Given the description of an element on the screen output the (x, y) to click on. 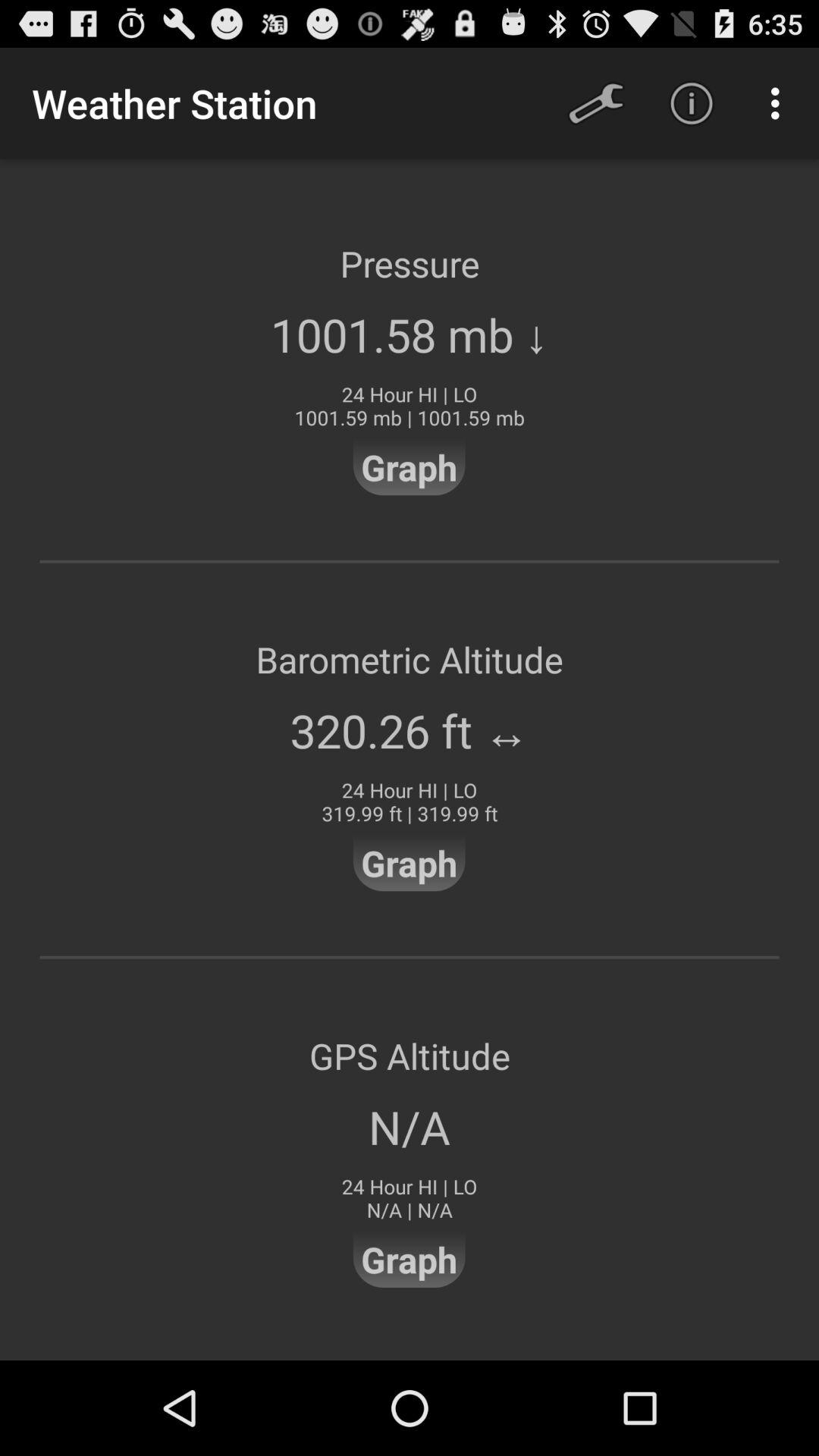
choose icon next to weather station (595, 103)
